Given the description of an element on the screen output the (x, y) to click on. 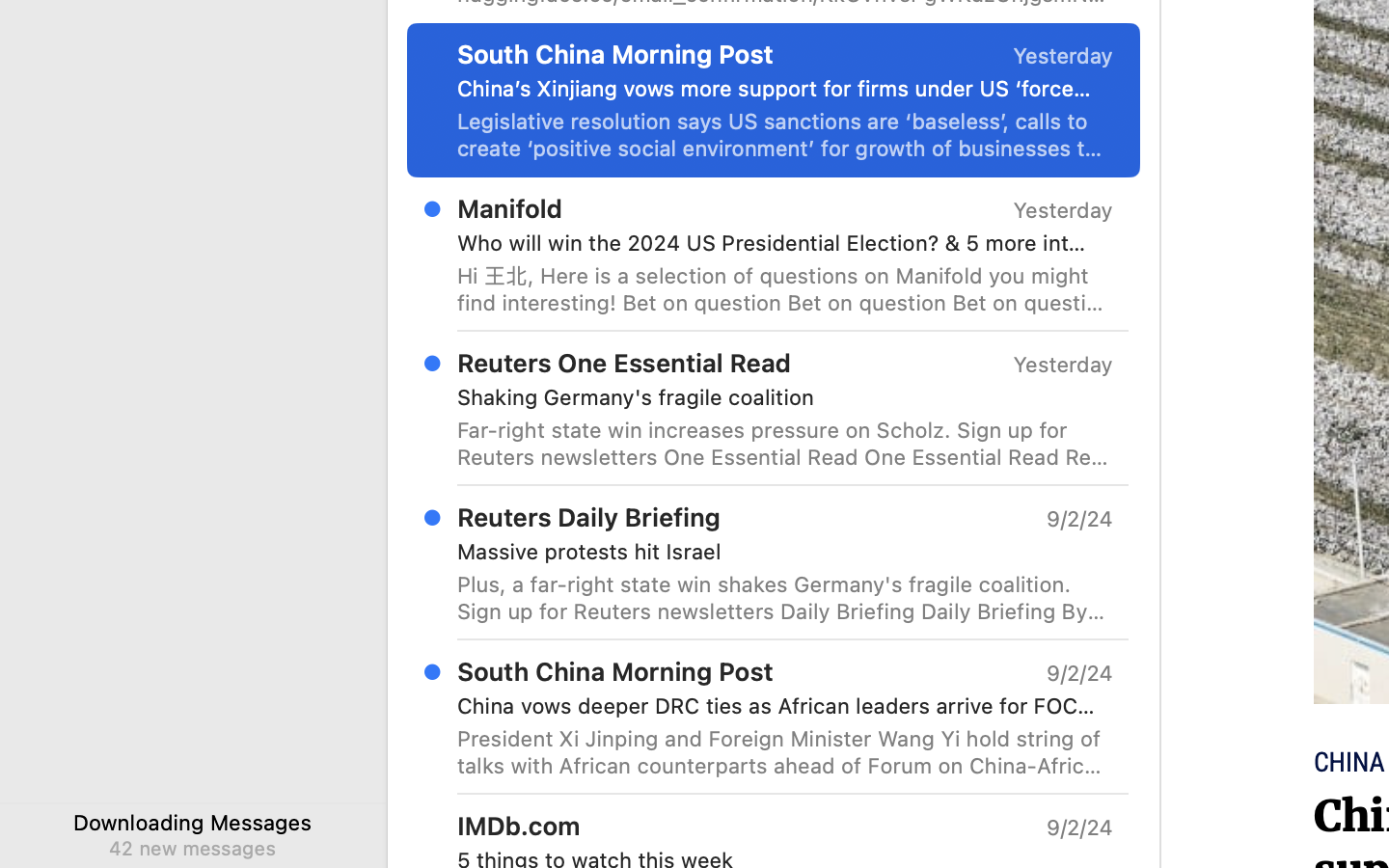
Hi 王北, Here is a selection of questions on Manifold you might find interesting! Bet on question Bet on question Bet on question Bet on question Bet on question Bet on question 🔎 Explore Manifold This e-mail has been sent to 王北, click here to unsubscribe from this type of notification. Element type: AXStaticText (784, 289)
